Given the description of an element on the screen output the (x, y) to click on. 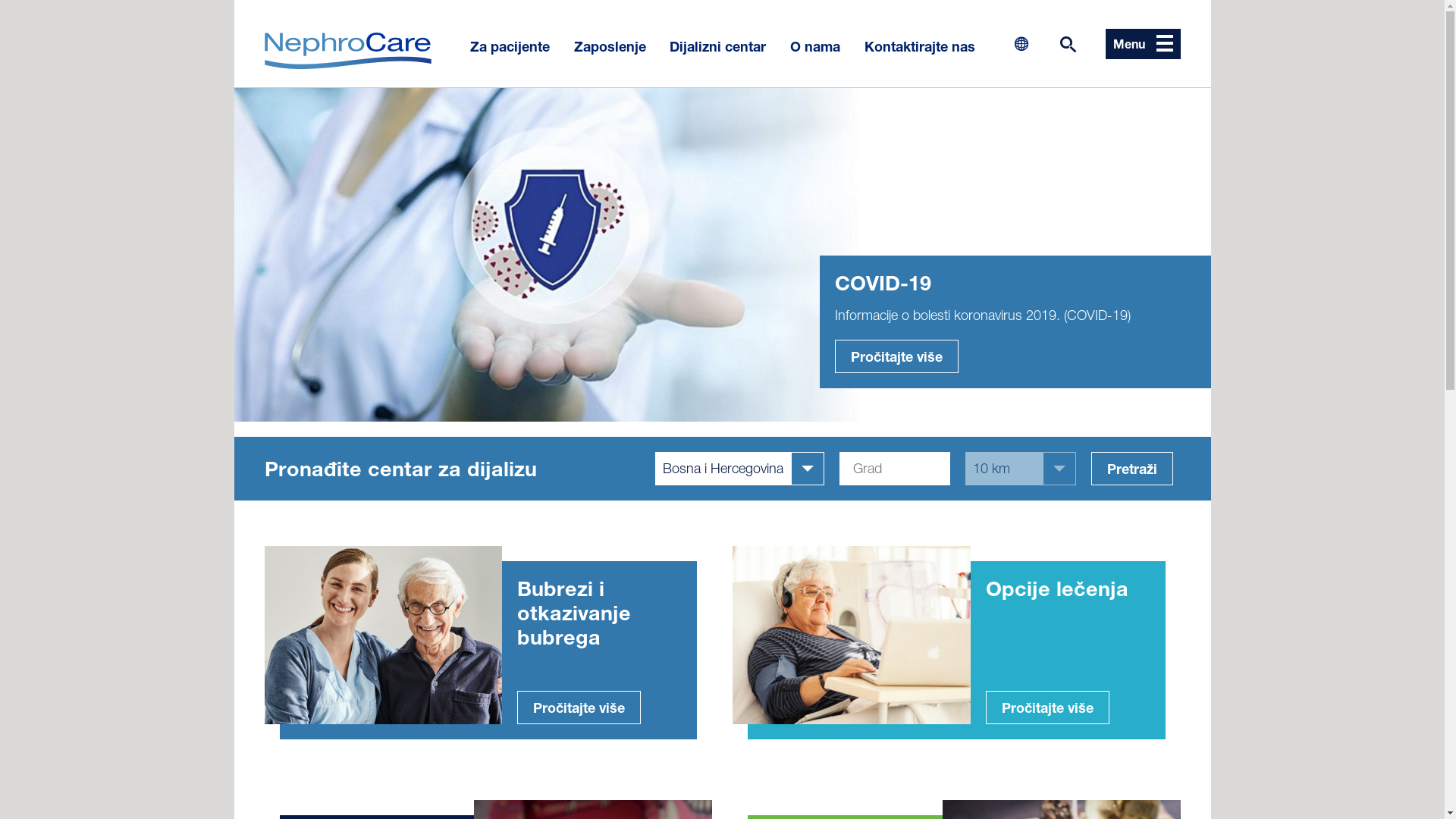
O nama Element type: text (814, 43)
Kontaktirajte nas Element type: text (915, 43)
Za pacijente Element type: text (513, 43)
Dijalizni centar Element type: text (717, 43)
NephroCare Element type: text (346, 50)
Zaposlenje Element type: text (609, 43)
